Given the description of an element on the screen output the (x, y) to click on. 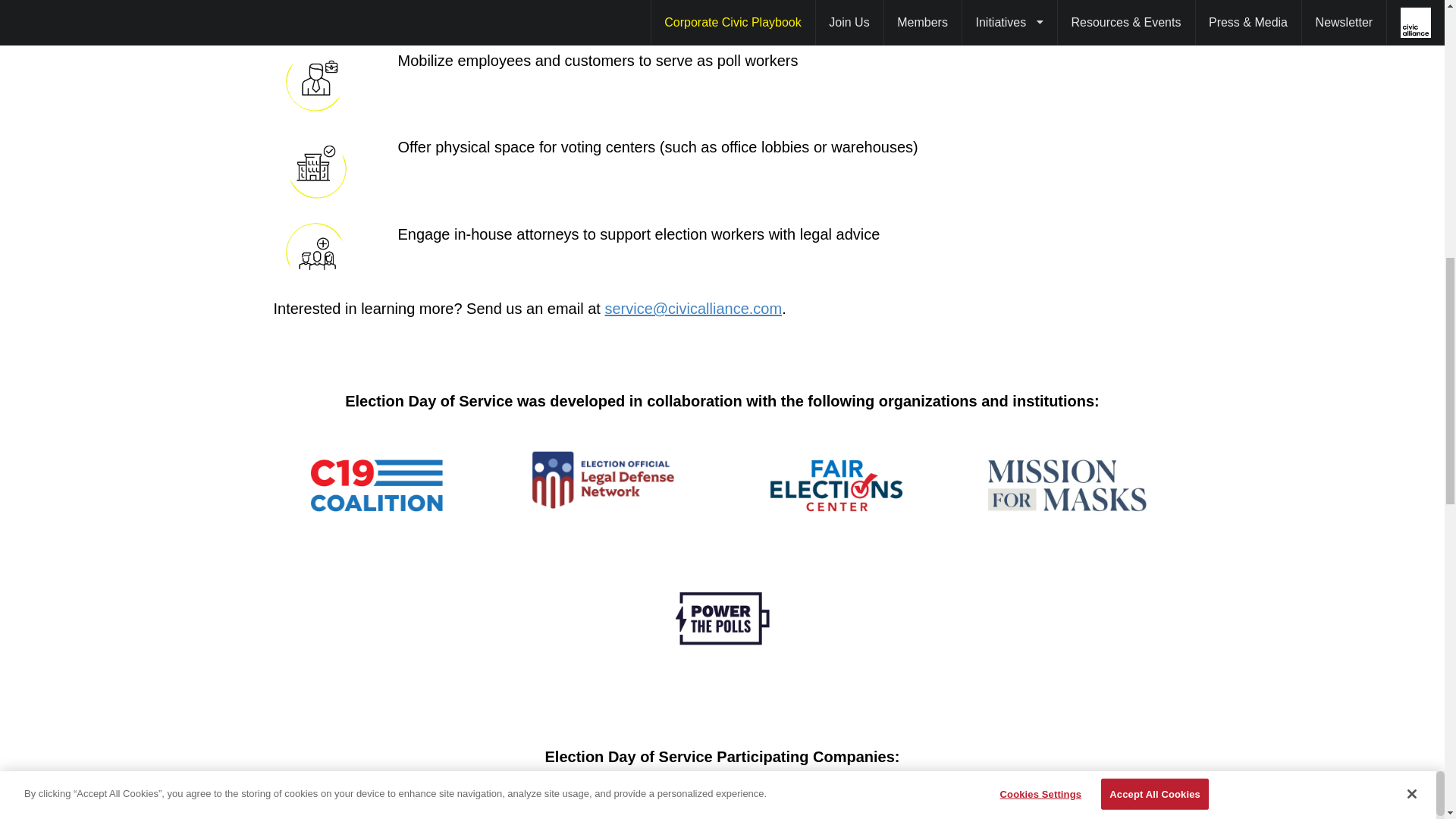
Mission for Masks (1064, 485)
Fair Elections Center (836, 485)
C19 Coalition (378, 485)
Beauty Counter (1146, 801)
Aledade (466, 801)
Anonymous Content (636, 801)
AEO  (296, 801)
Bearaby (976, 801)
Bad Robot Productions (806, 801)
Power the Polls (722, 618)
